Given the description of an element on the screen output the (x, y) to click on. 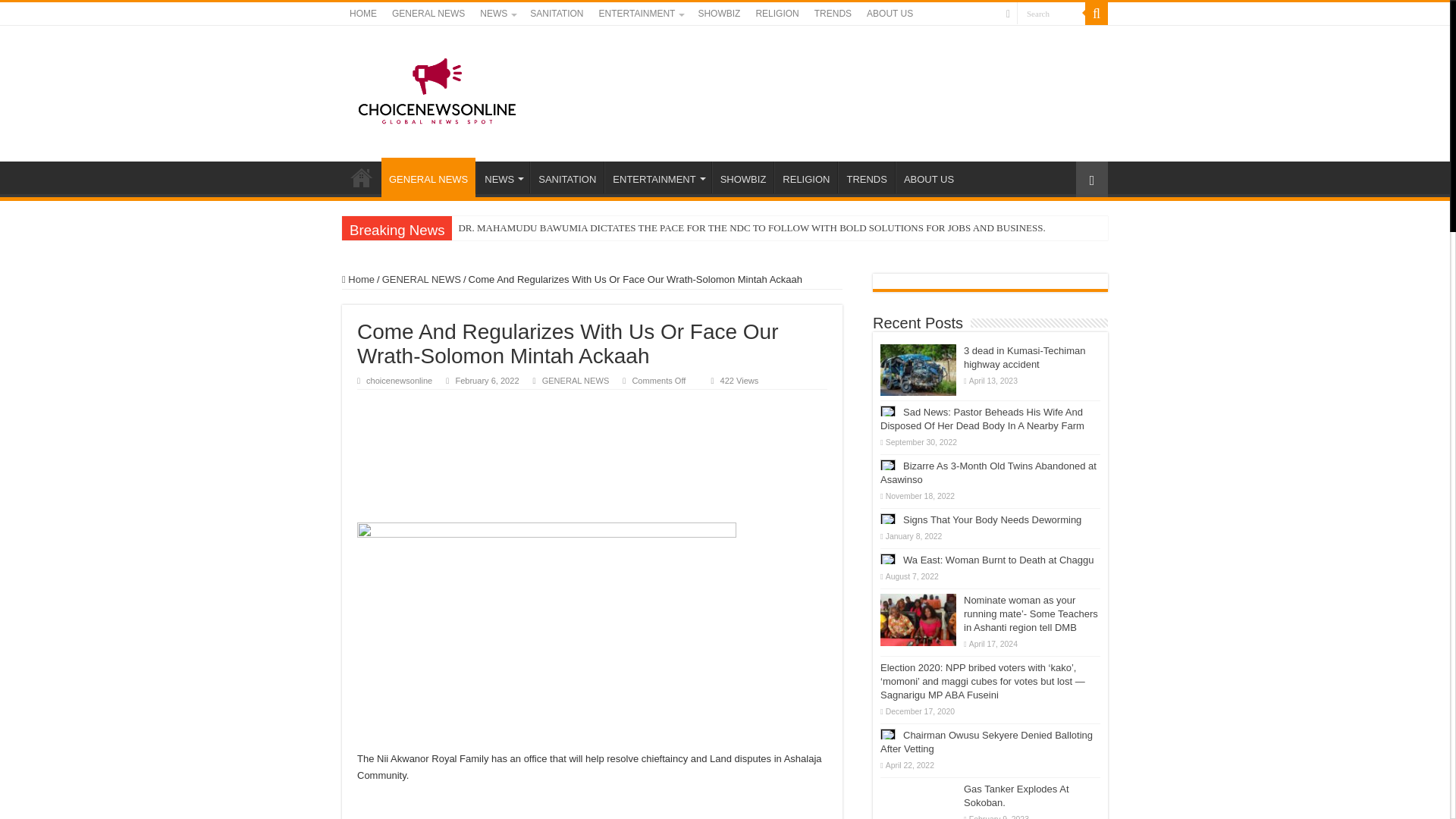
Search (1050, 13)
ENTERTAINMENT (640, 13)
Search (1050, 13)
NEWS (502, 177)
SHOWBIZ (719, 13)
GENERAL NEWS (427, 13)
NEWS (496, 13)
Choicenewsonline (436, 90)
Search (1050, 13)
GENERAL NEWS (428, 177)
